Given the description of an element on the screen output the (x, y) to click on. 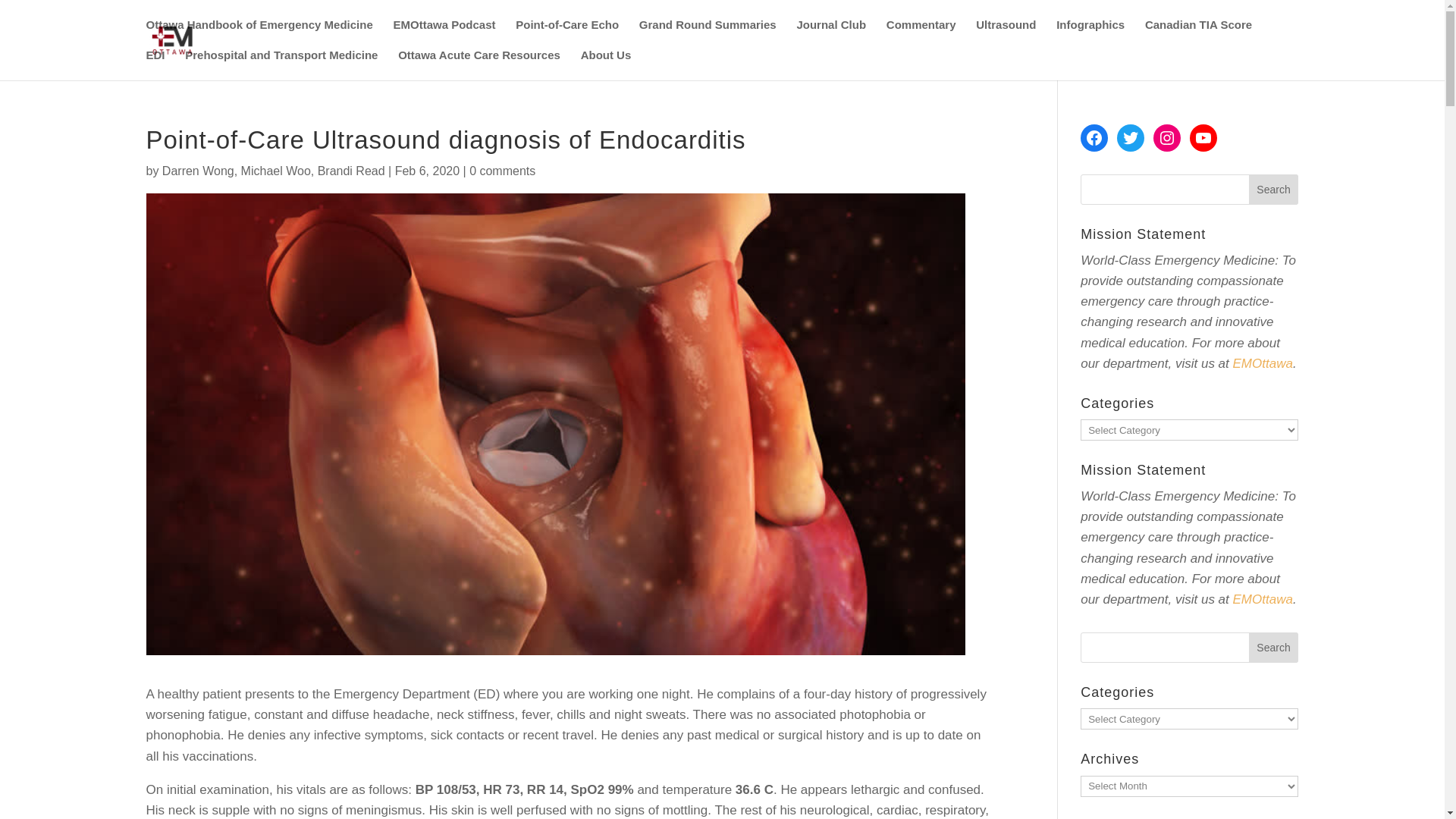
Commentary (921, 34)
Brandi Read (351, 170)
Point-of-Care Echo (566, 34)
Grand Round Summaries (707, 34)
Facebook (1094, 137)
0 comments (501, 170)
Search (1273, 647)
Prehospital and Transport Medicine (280, 64)
Twitter (1130, 137)
Ottawa Handbook of Emergency Medicine (258, 34)
